Given the description of an element on the screen output the (x, y) to click on. 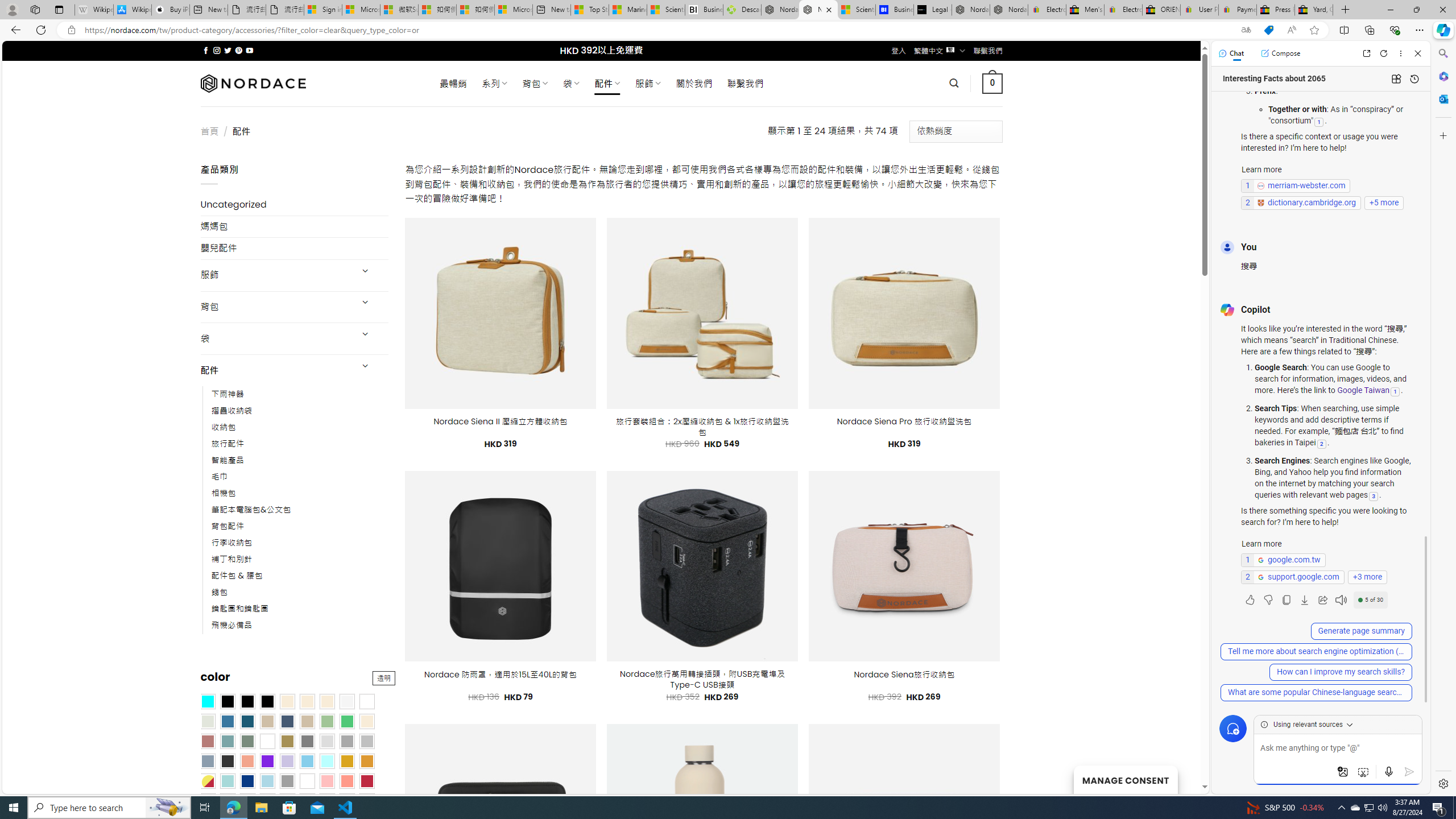
Follow on Facebook (205, 50)
